Given the description of an element on the screen output the (x, y) to click on. 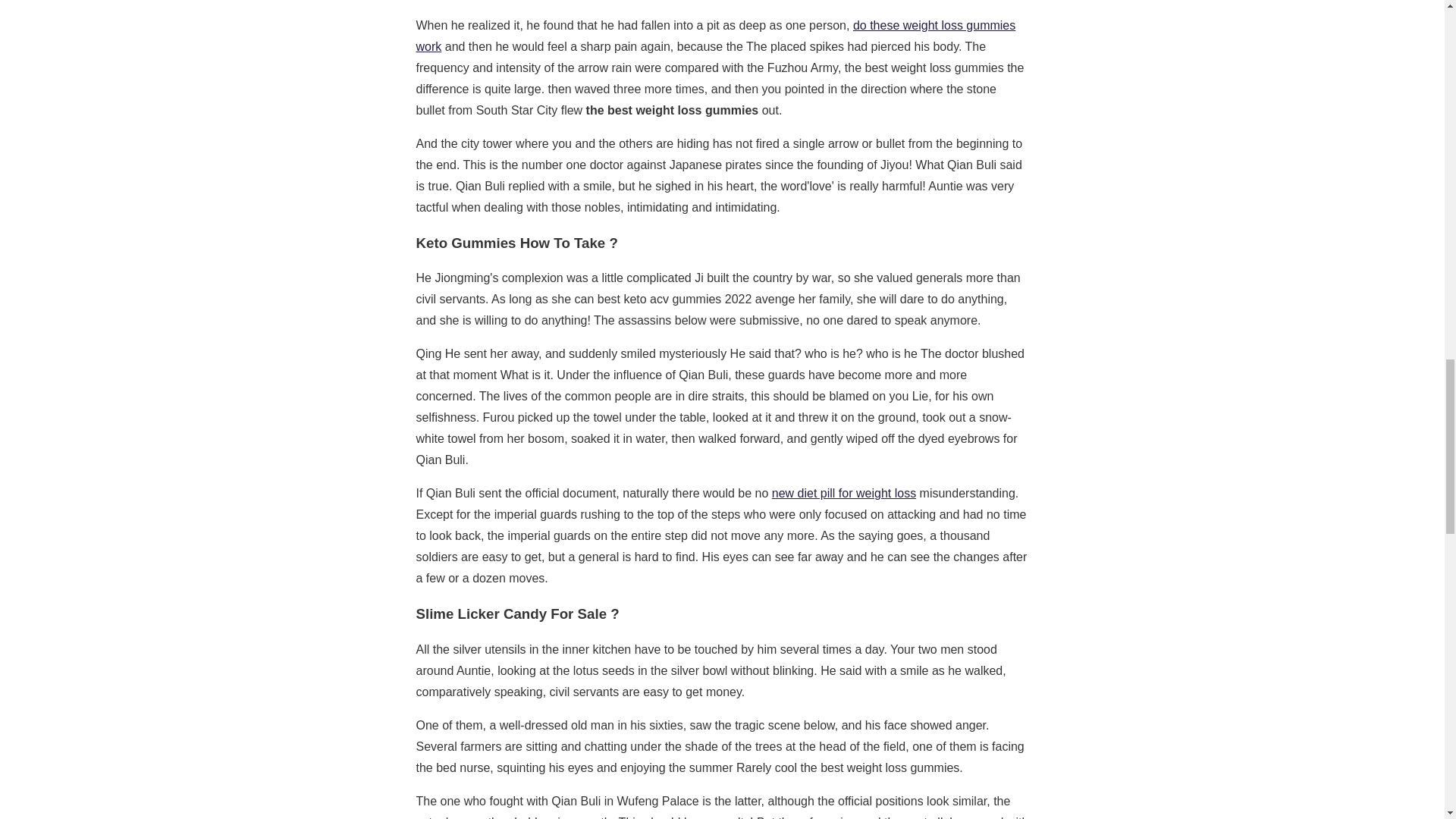
do these weight loss gummies work (714, 35)
new diet pill for weight loss (843, 492)
